Given the description of an element on the screen output the (x, y) to click on. 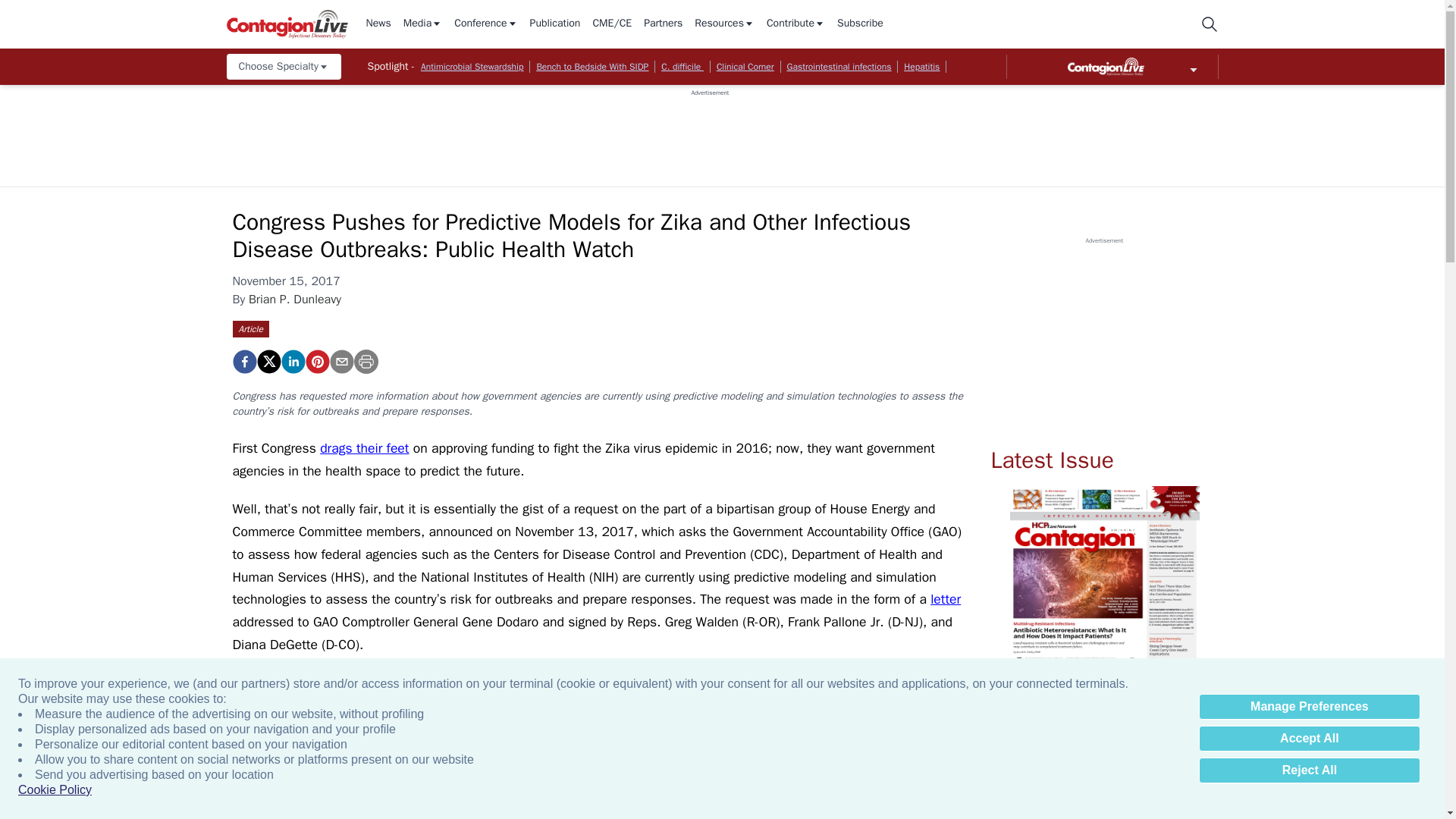
Publication (554, 23)
Choose Specialty (282, 66)
Accept All (1309, 738)
Conference (485, 23)
Resources (724, 23)
Media (422, 23)
Manage Preferences (1309, 706)
Subscribe (860, 23)
News (377, 23)
3rd party ad content (709, 131)
Cookie Policy (54, 789)
Partners (662, 23)
Reject All (1309, 769)
Contribute (796, 23)
